Given the description of an element on the screen output the (x, y) to click on. 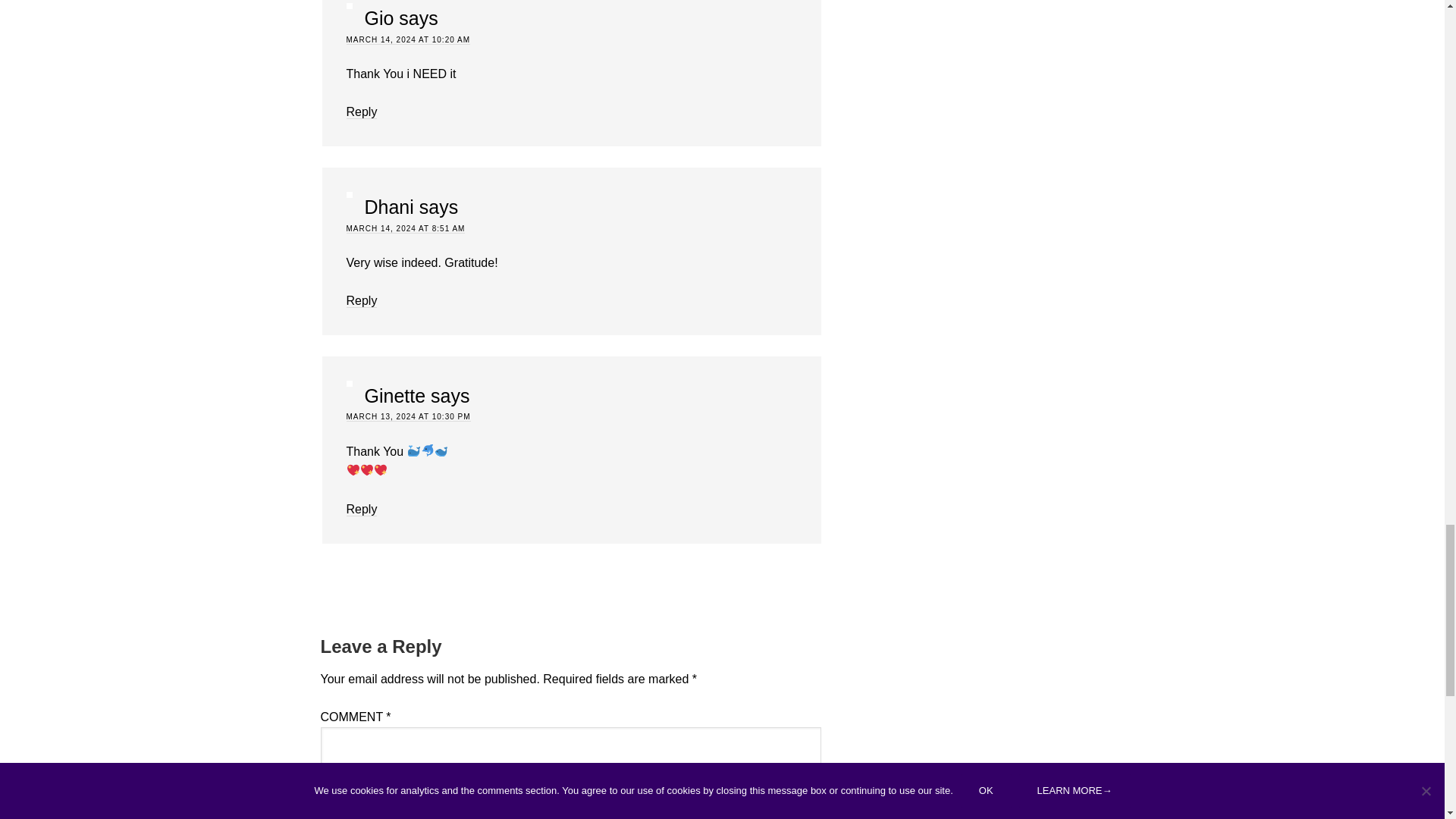
Reply (361, 300)
MARCH 14, 2024 AT 8:51 AM (405, 228)
Reply (361, 509)
Reply (361, 111)
MARCH 14, 2024 AT 10:20 AM (407, 40)
MARCH 13, 2024 AT 10:30 PM (408, 416)
